Given the description of an element on the screen output the (x, y) to click on. 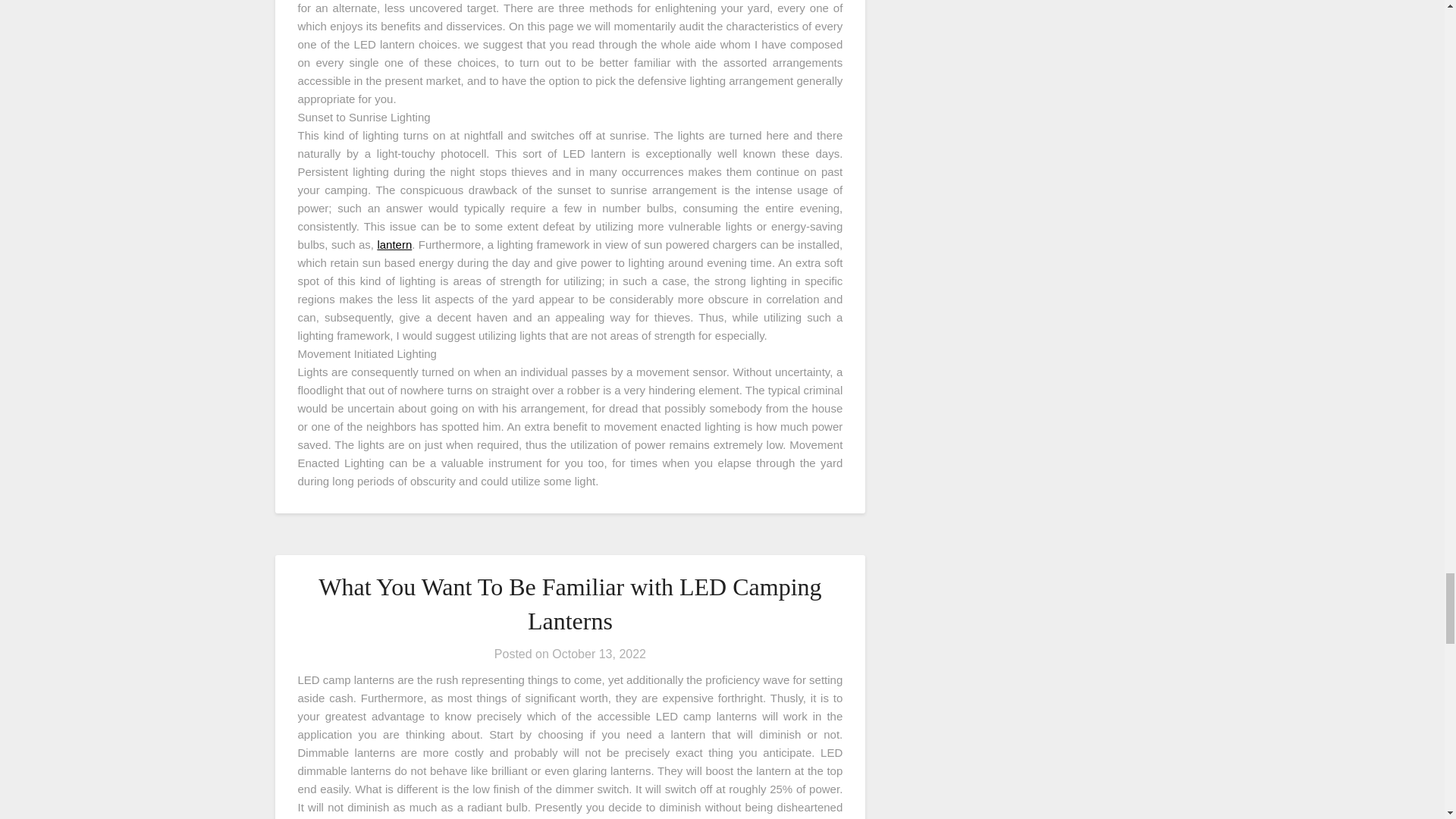
lantern (394, 244)
October 13, 2022 (598, 653)
What You Want To Be Familiar with LED Camping Lanterns (569, 603)
